Given the description of an element on the screen output the (x, y) to click on. 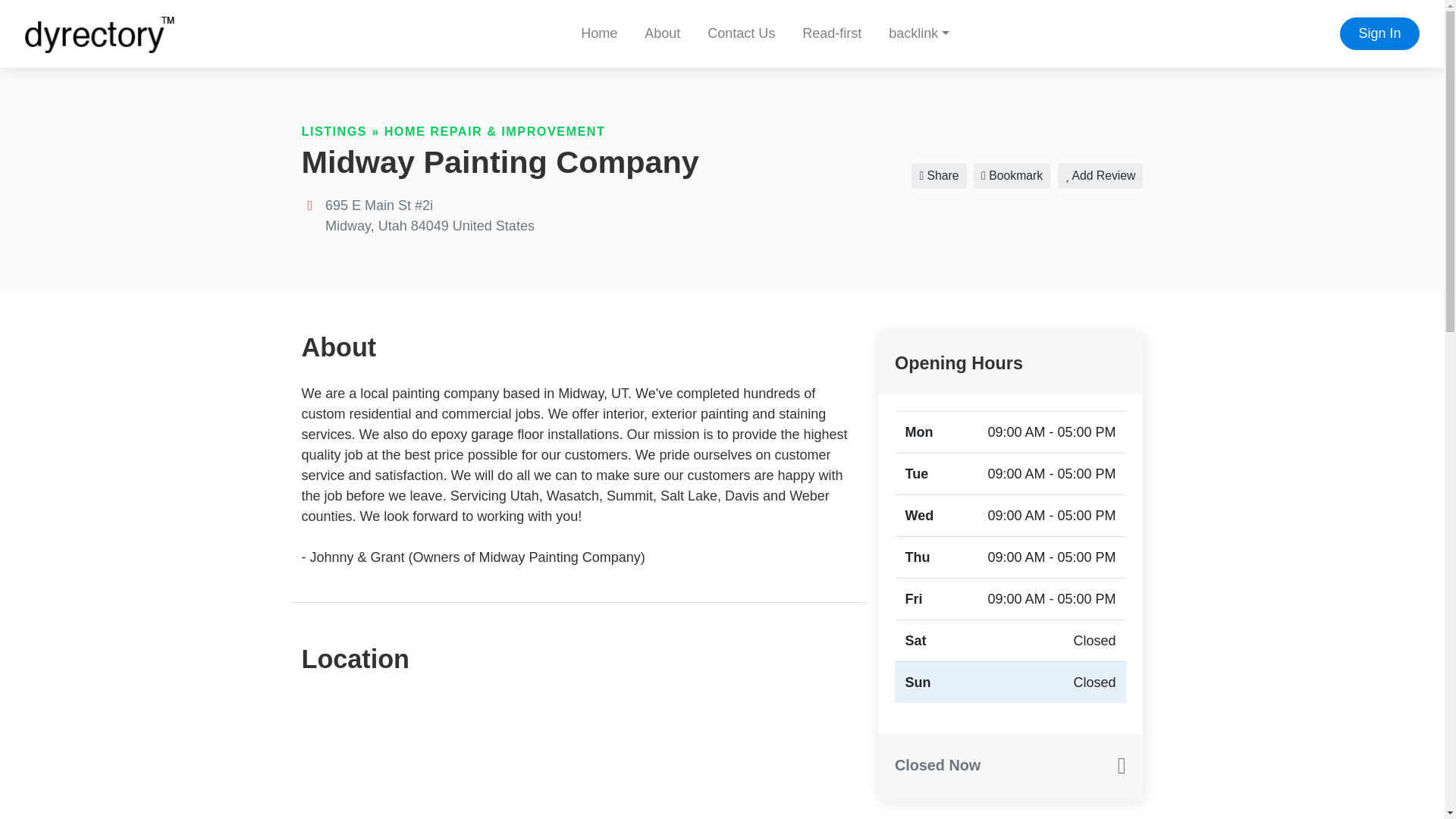
About (662, 33)
LISTINGS (334, 131)
Add Review (1100, 175)
Bookmark (1011, 175)
backlink (918, 33)
Read-first (832, 33)
Sign In (1379, 33)
Home (598, 33)
Contact Us (741, 33)
